Given the description of an element on the screen output the (x, y) to click on. 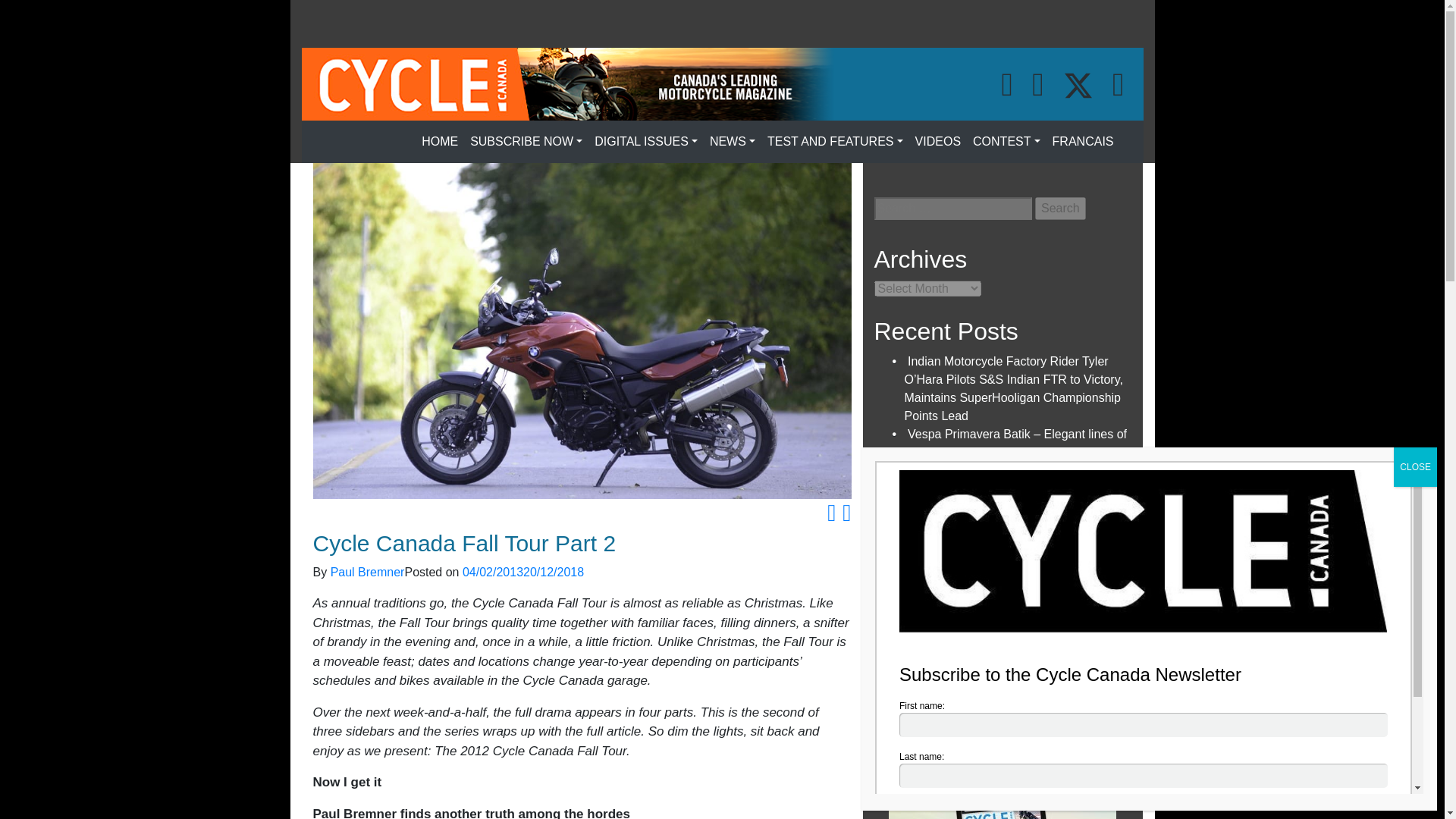
Search (1060, 208)
Search (1060, 208)
HOME (439, 141)
DIGITAL ISSUES (645, 141)
SUBSCRIBE NOW (526, 141)
